Given the description of an element on the screen output the (x, y) to click on. 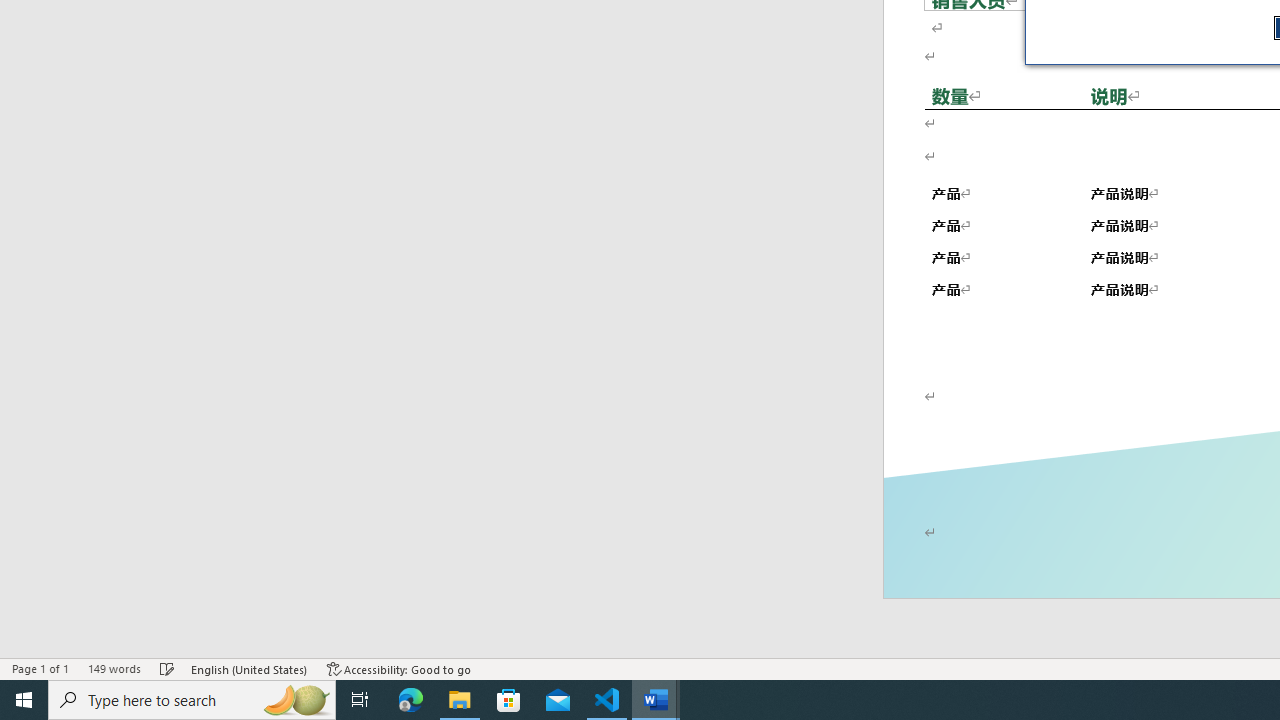
File Explorer - 1 running window (460, 699)
Microsoft Edge (411, 699)
Page Number Page 1 of 1 (39, 668)
Word - 2 running windows (656, 699)
